Given the description of an element on the screen output the (x, y) to click on. 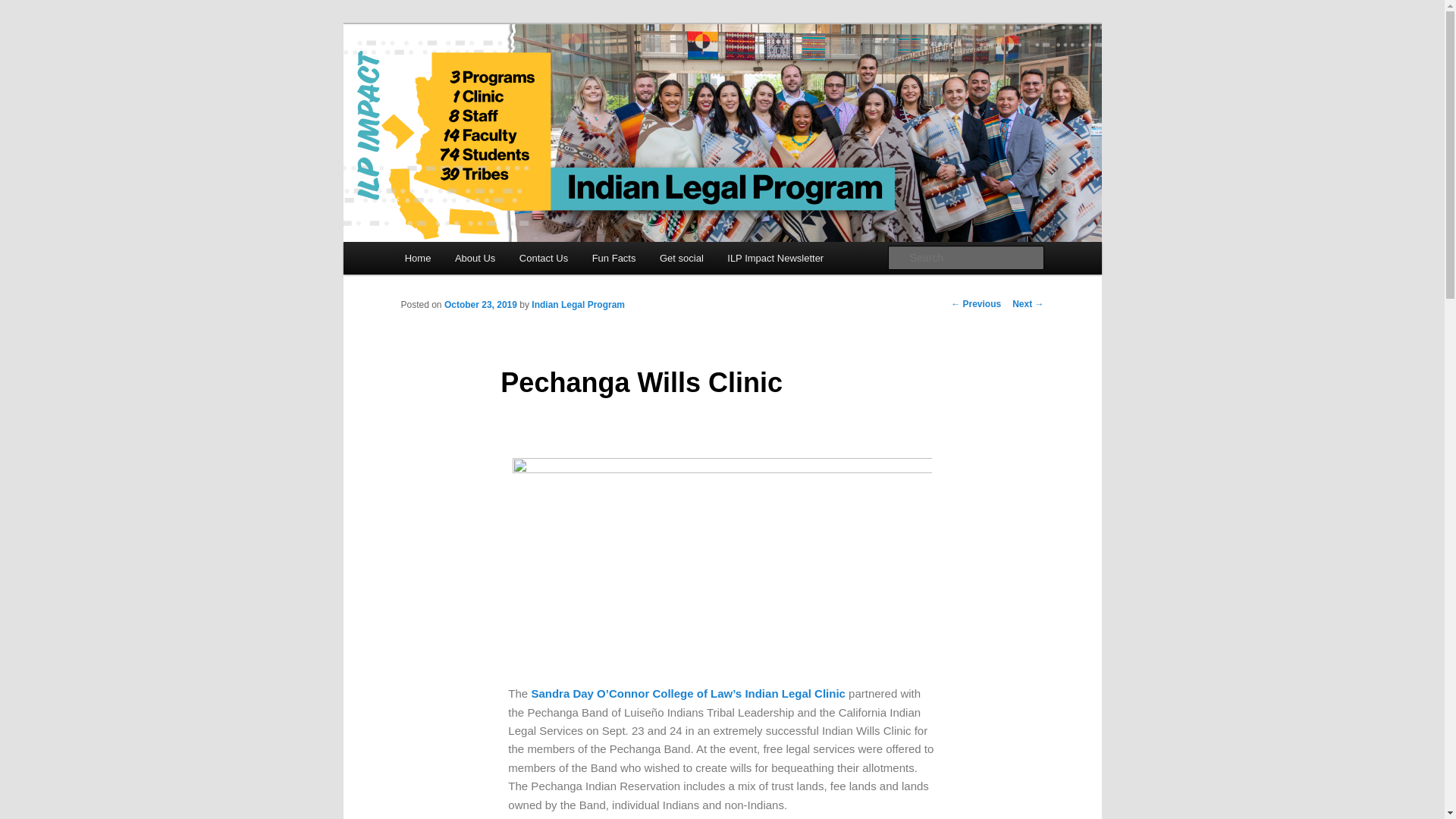
ILP Impact Newsletter (775, 257)
Get social (680, 257)
11:24 pm (480, 304)
Contact Us (542, 257)
About Us (474, 257)
Indian Legal Program (516, 78)
View all posts by Indian Legal Program (577, 304)
Indian Legal Program (577, 304)
October 23, 2019 (480, 304)
